Given the description of an element on the screen output the (x, y) to click on. 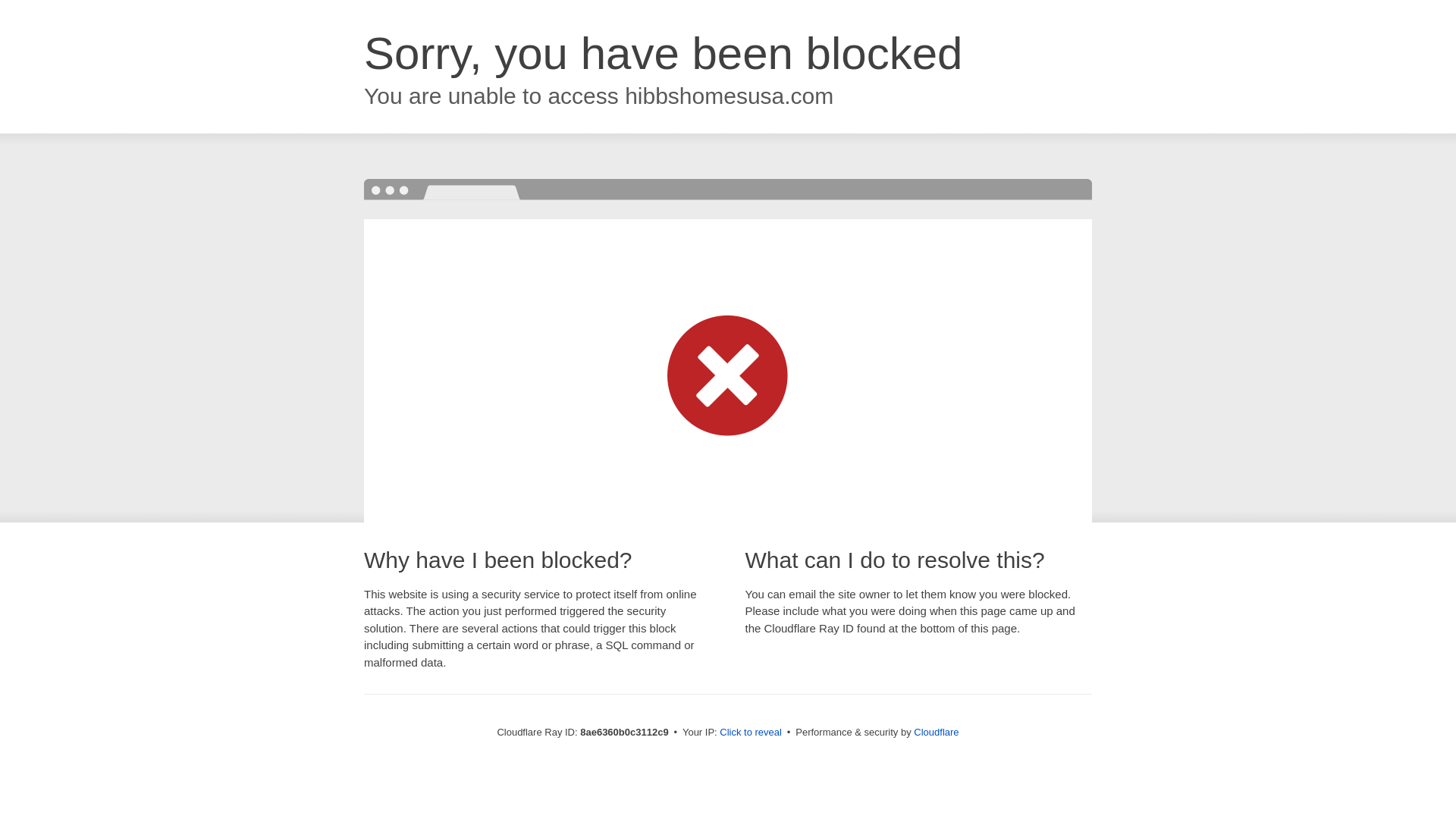
Cloudflare (936, 731)
Click to reveal (750, 732)
